Given the description of an element on the screen output the (x, y) to click on. 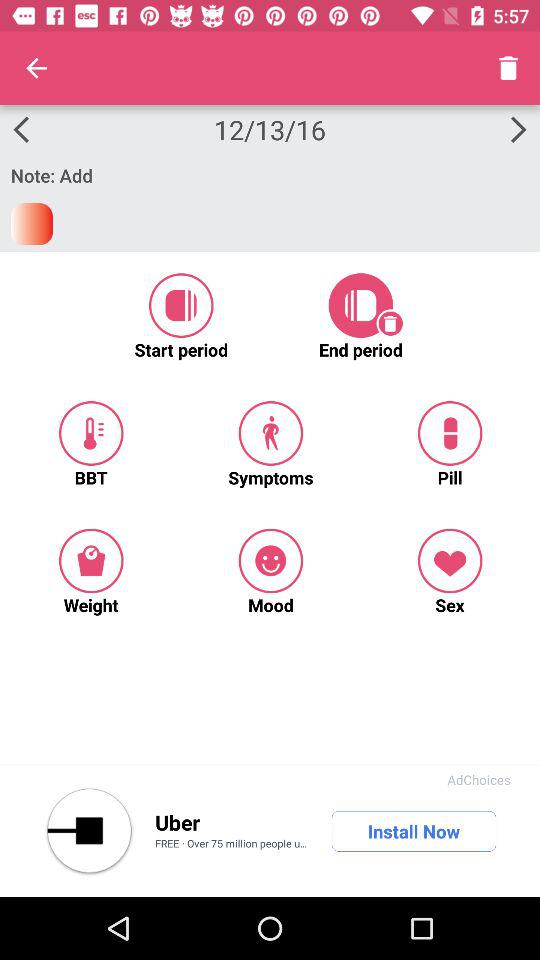
click on advertisements (89, 831)
